Given the description of an element on the screen output the (x, y) to click on. 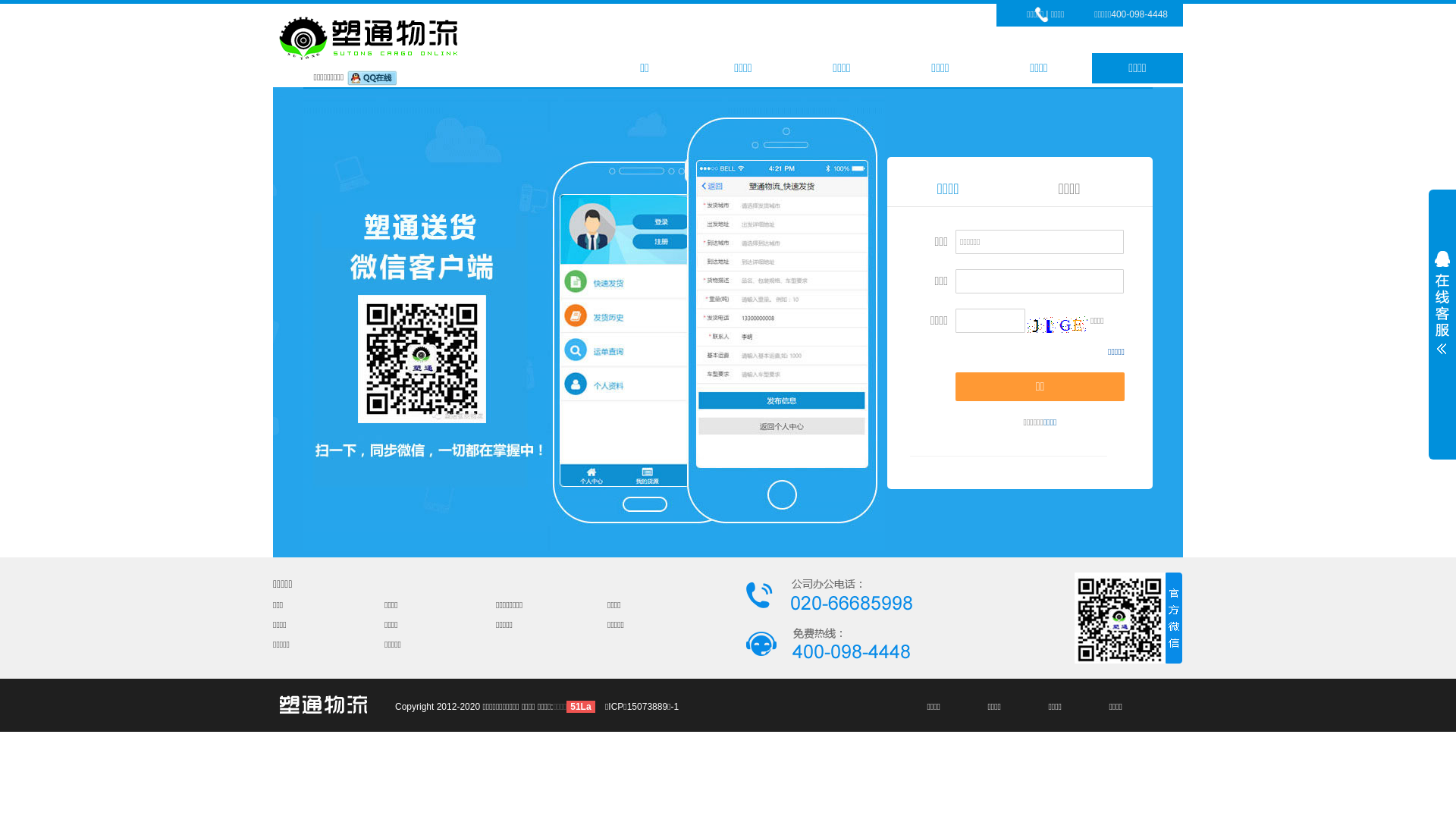
51La Element type: text (580, 706)
